Given the description of an element on the screen output the (x, y) to click on. 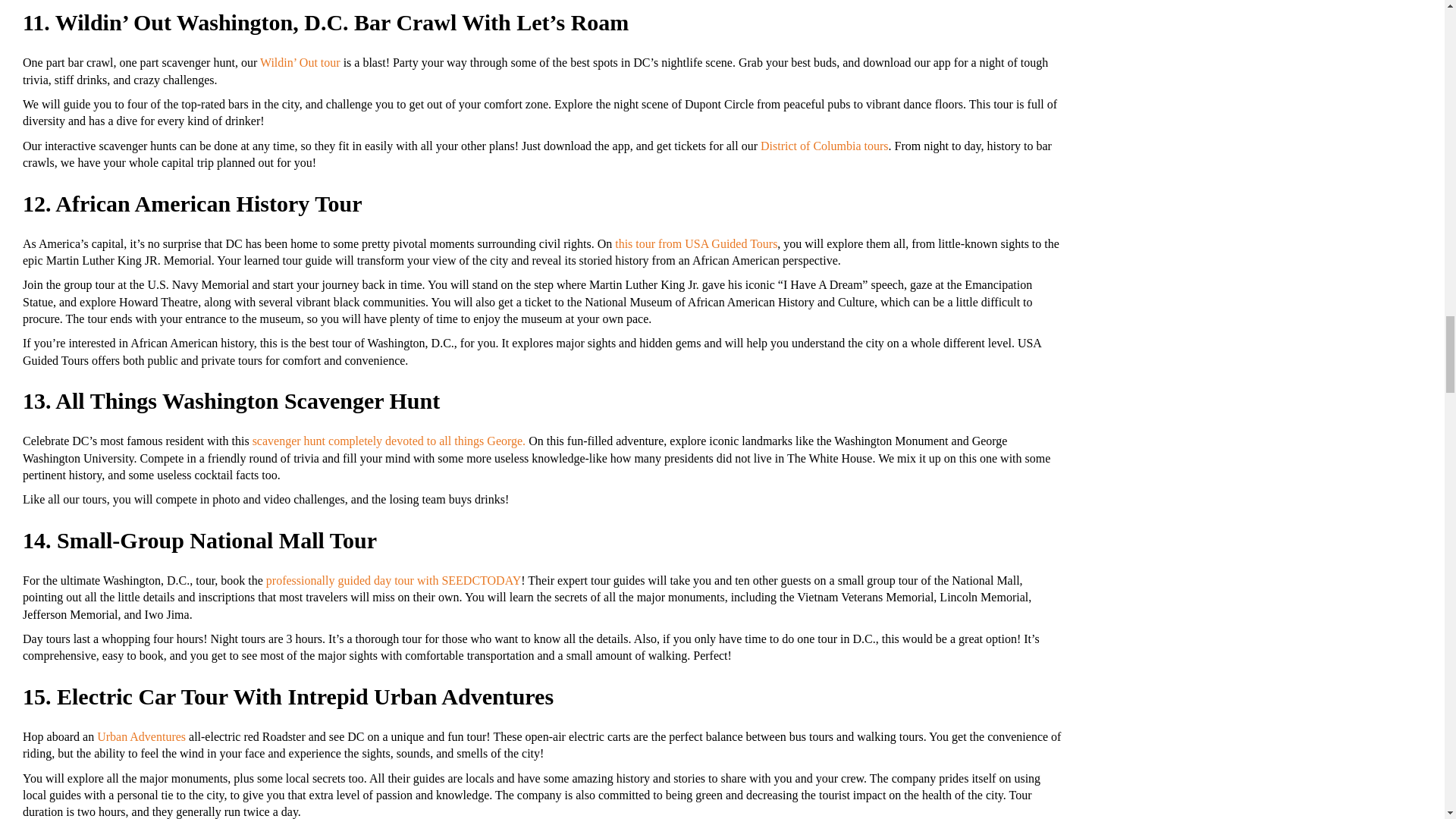
scavenger hunt completely devoted to all things George. (388, 440)
this tour from USA Guided Tours (695, 243)
District of Columbia tours (824, 145)
